Given the description of an element on the screen output the (x, y) to click on. 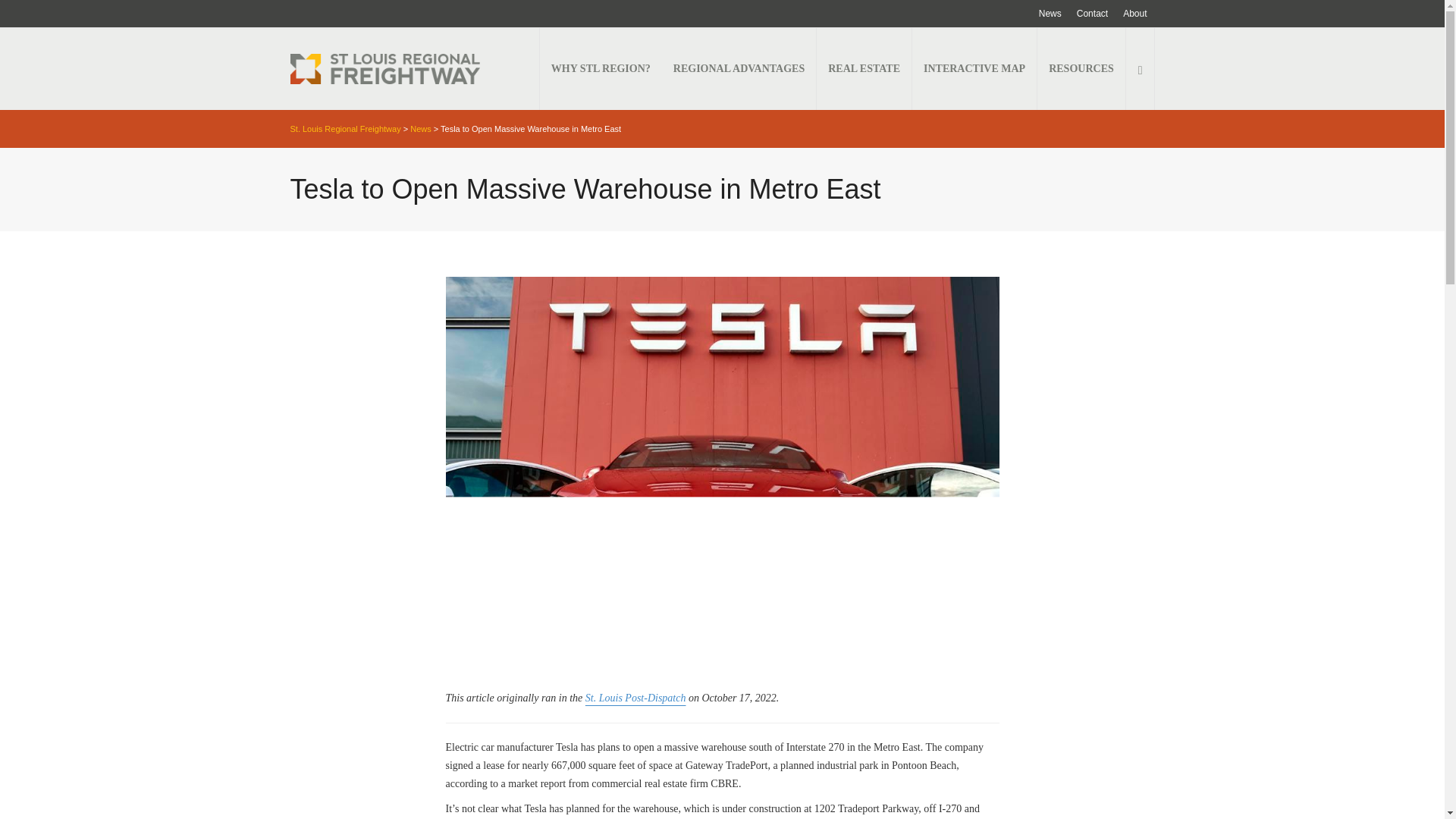
Go to St. Louis Regional Freightway. (344, 128)
About (1134, 13)
News (1049, 13)
WHY STL REGION? (601, 68)
Contact (1091, 13)
Go to the News Category archives. (420, 128)
